Given the description of an element on the screen output the (x, y) to click on. 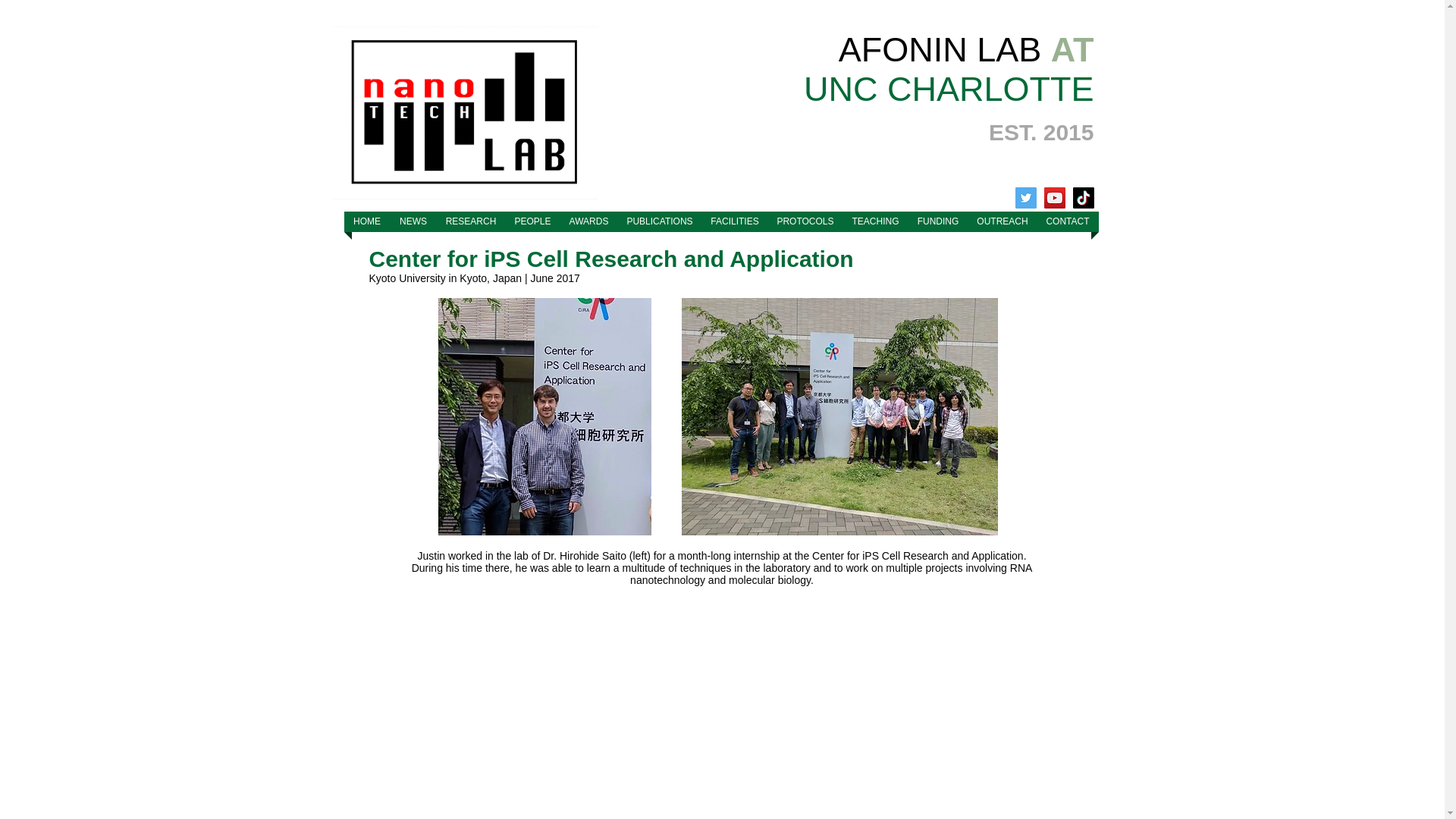
NEWS (412, 221)
OUTREACH (1002, 221)
PUBLICATIONS (659, 221)
RESEARCH (470, 221)
Dr. Hirohide Saito (584, 555)
HOME (366, 221)
PROTOCOLS (805, 221)
AWARDS (588, 221)
PEOPLE (532, 221)
TEACHING (875, 221)
CONTACT (1067, 221)
FUNDING (938, 221)
FACILITIES (734, 221)
